Given the description of an element on the screen output the (x, y) to click on. 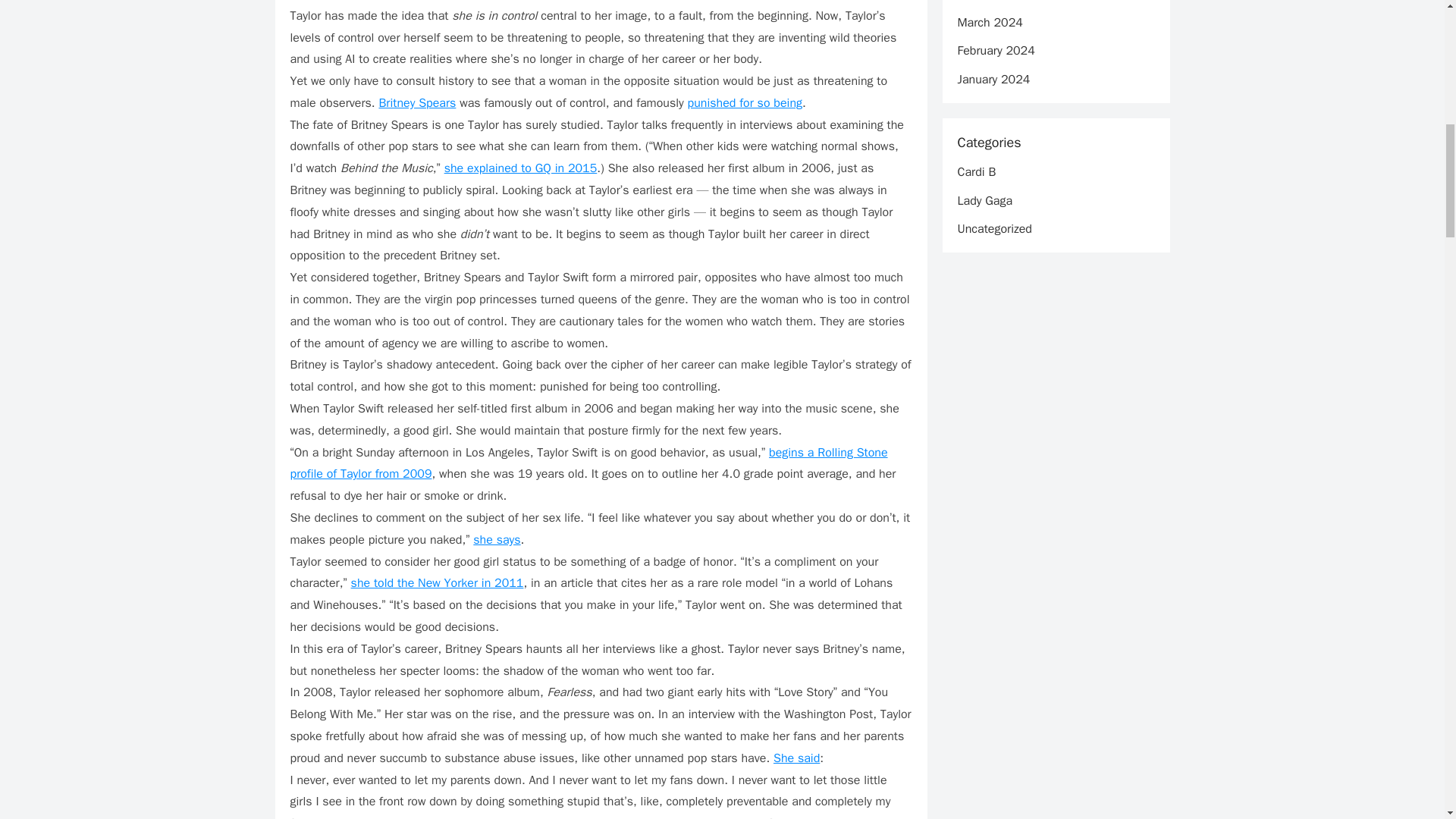
She said (796, 758)
she says (496, 539)
Britney Spears (416, 102)
begins a Rolling Stone profile of Taylor from 2009 (587, 463)
she explained to GQ in 2015 (520, 168)
punished for so being (744, 102)
she told the New Yorker in 2011 (437, 582)
